Given the description of an element on the screen output the (x, y) to click on. 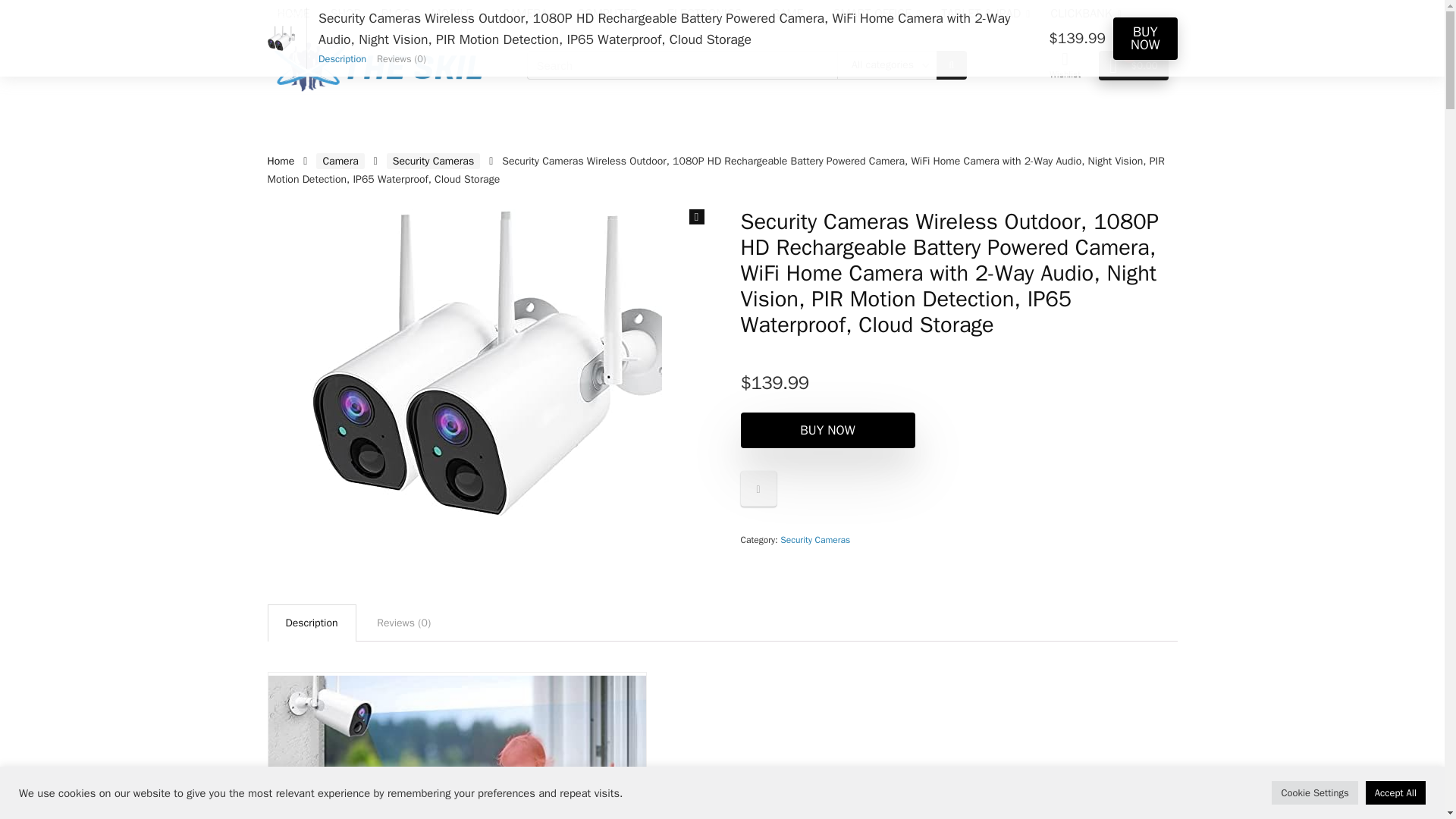
Twitter (397, 13)
HOME (292, 14)
ELECTRONICS (709, 14)
COMPUTER (611, 14)
MOBILE (457, 14)
SHOP (345, 14)
BLOG (395, 14)
CAMERA (529, 14)
Instagram (344, 13)
Facebook (285, 13)
